Given the description of an element on the screen output the (x, y) to click on. 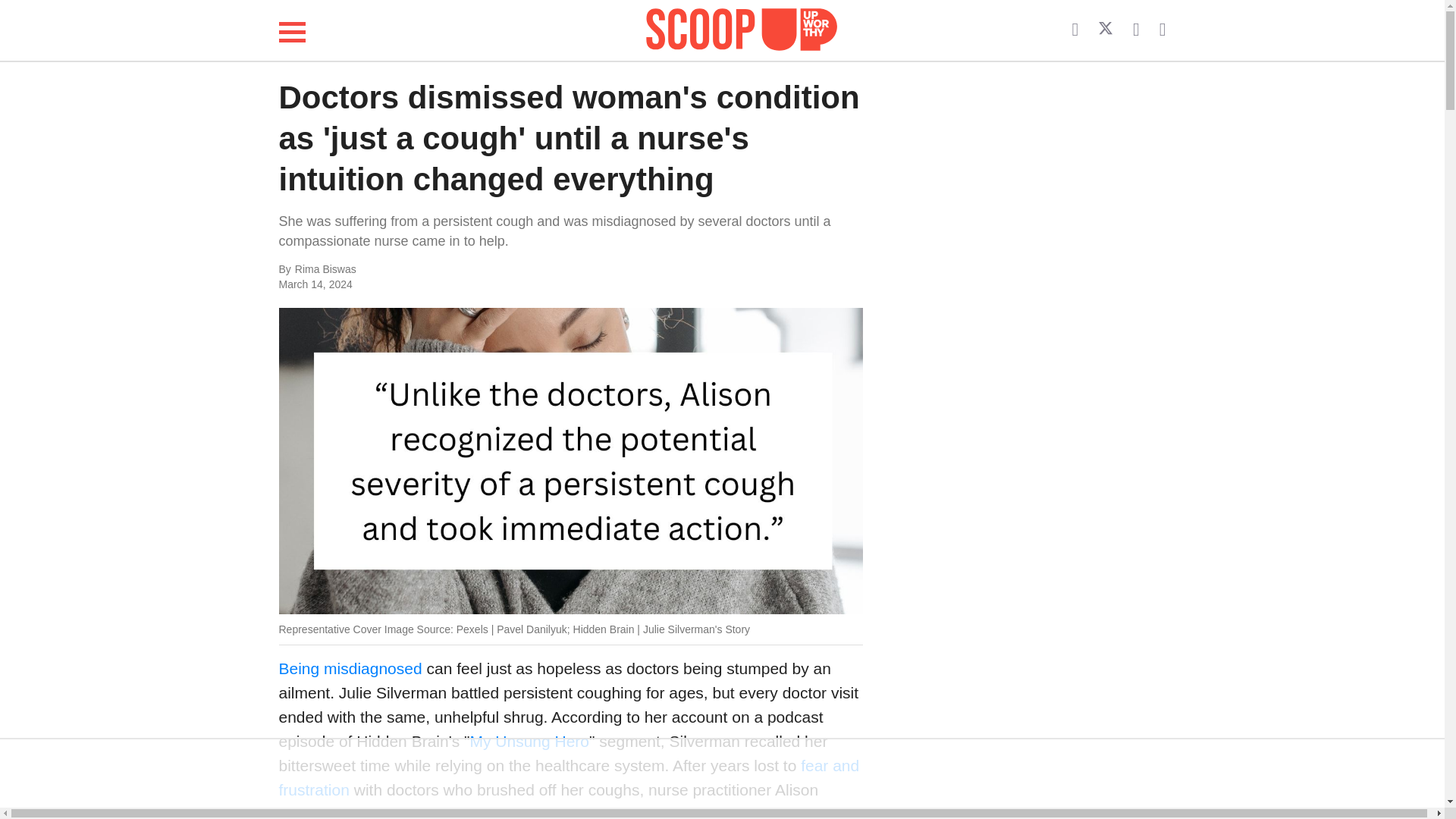
fear and frustration (569, 777)
SCOOP UPWORTHY (741, 27)
My Unsung Hero (528, 741)
SCOOP UPWORTHY (741, 29)
Being misdiagnosed (350, 668)
Rima Biswas (445, 269)
